Given the description of an element on the screen output the (x, y) to click on. 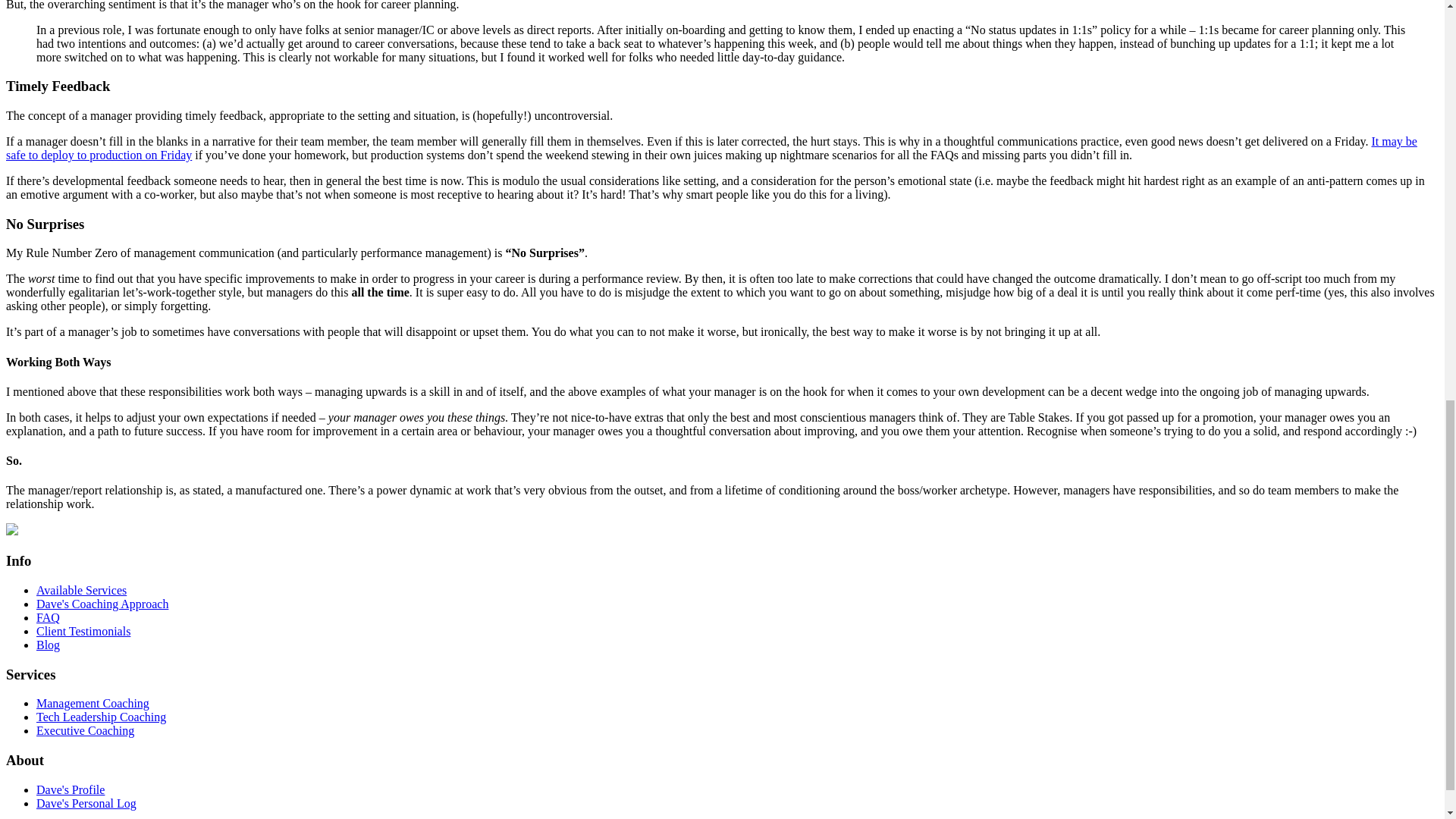
Dave's Coaching Approach (102, 603)
It may be safe to deploy to production on Friday (710, 148)
Management Coaching (92, 703)
Client Testimonials (83, 631)
Available Services (81, 590)
Blog (47, 644)
Tech Leadership Coaching (100, 716)
FAQ (47, 617)
